Given the description of an element on the screen output the (x, y) to click on. 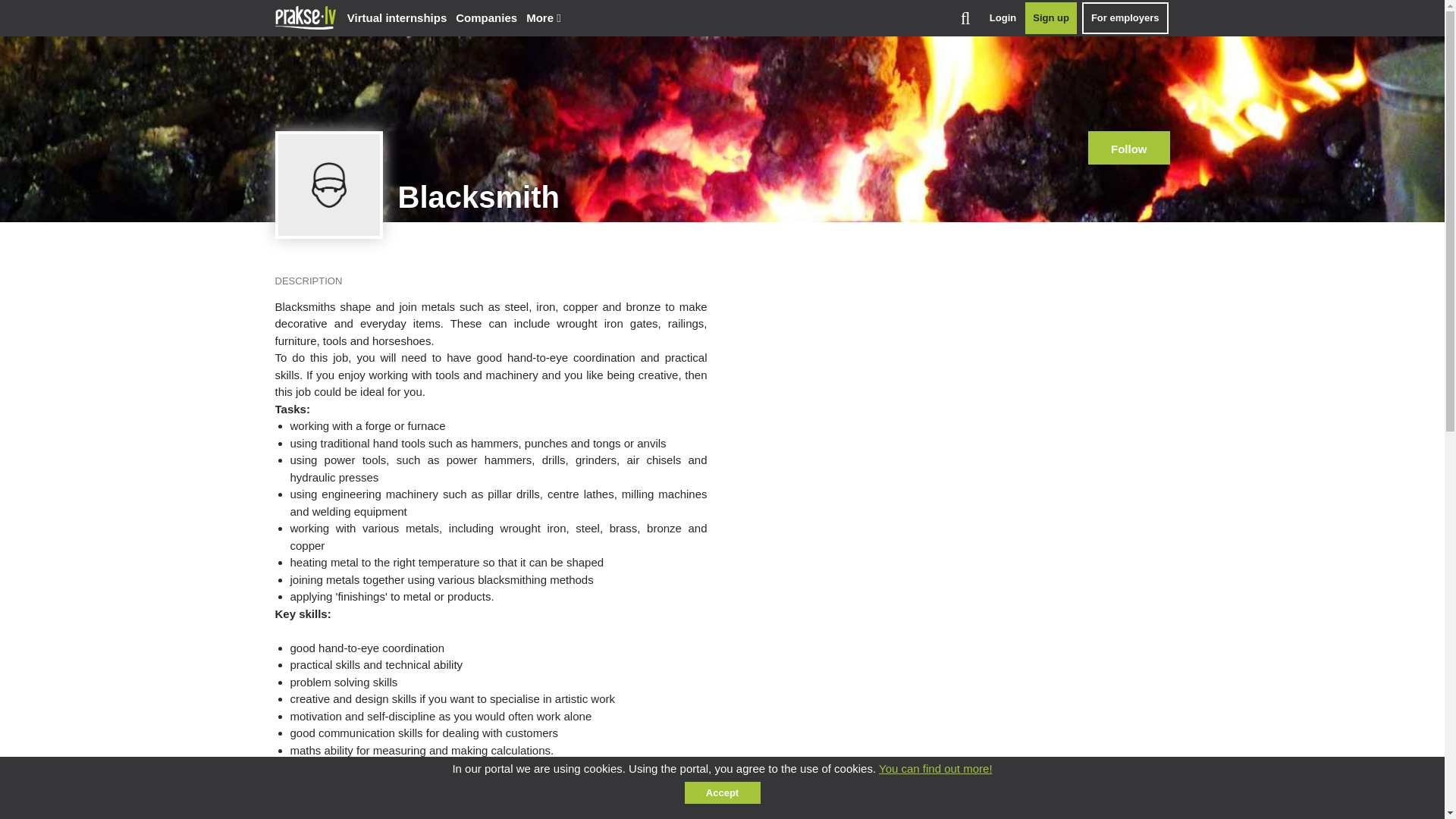
Virtual internships (396, 18)
Sign up (1051, 18)
Search (964, 18)
Follow (1128, 147)
Companies (486, 18)
More  (543, 18)
Login (1002, 18)
For employers (1125, 18)
